Given the description of an element on the screen output the (x, y) to click on. 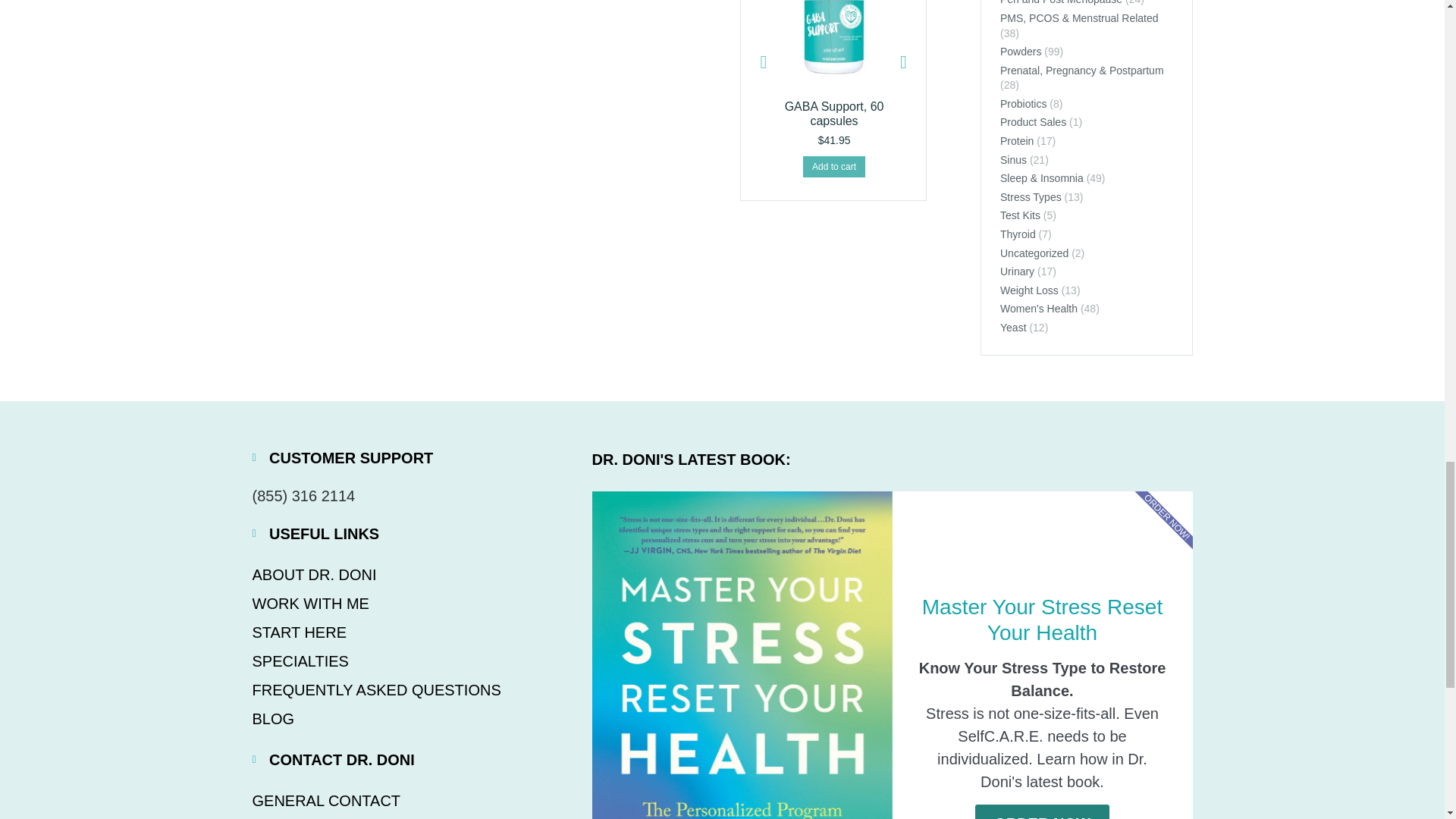
GABA Support, 60 capsules (833, 113)
